Given the description of an element on the screen output the (x, y) to click on. 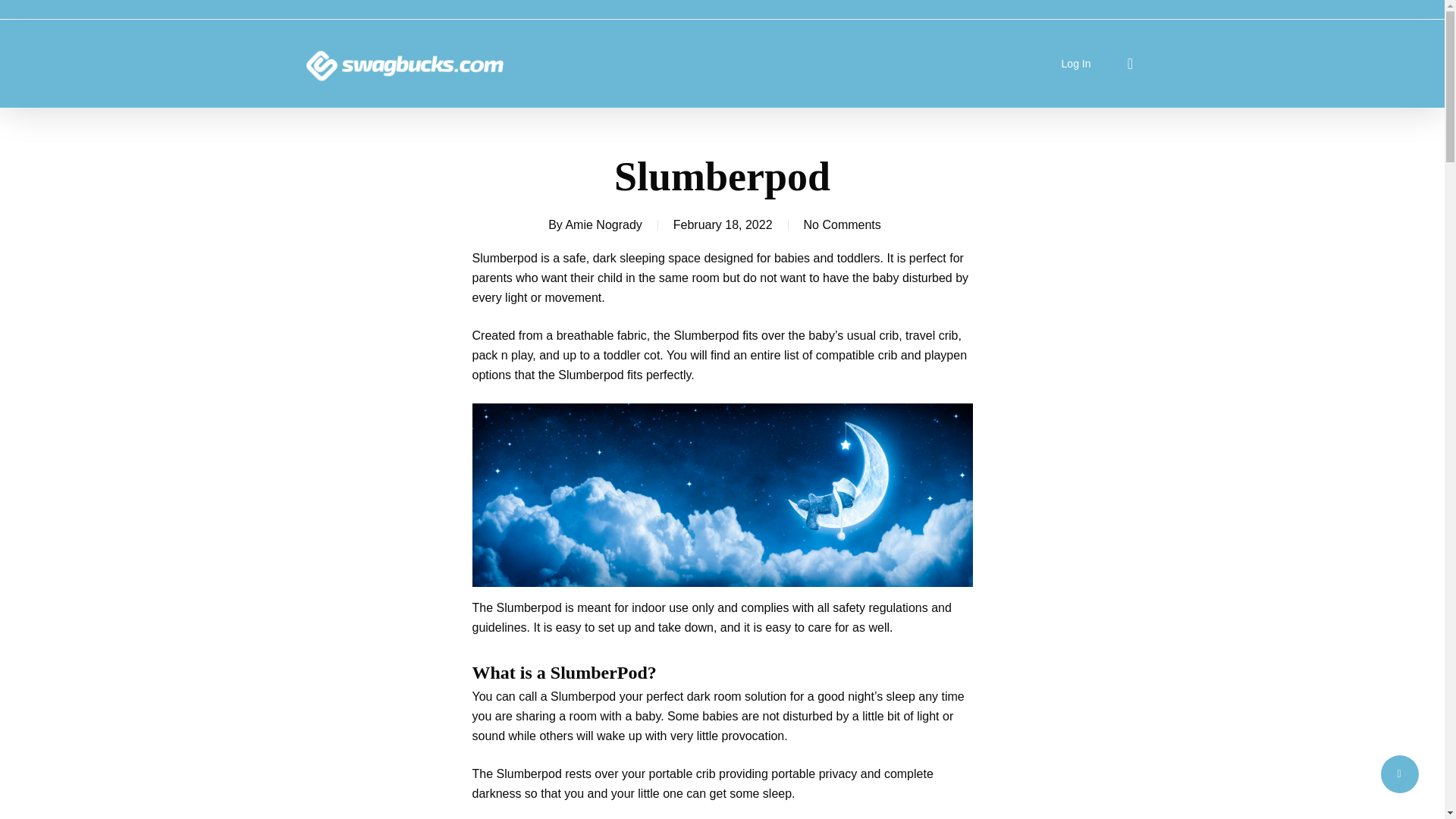
Log In (1075, 63)
Posts by Amie Nogrady (603, 224)
No Comments (841, 224)
search (1129, 64)
Amie Nogrady (603, 224)
